Given the description of an element on the screen output the (x, y) to click on. 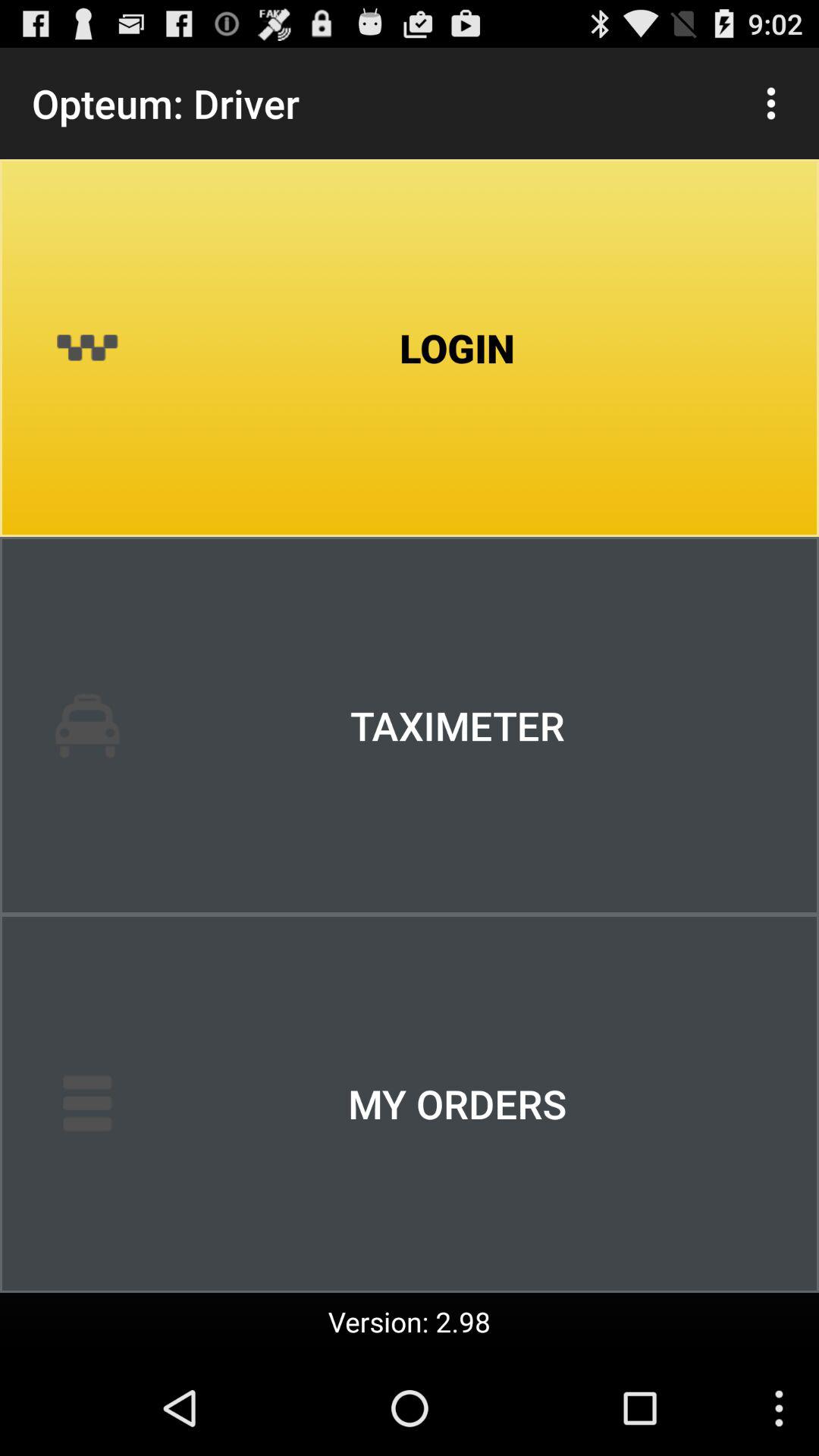
click my orders icon (409, 1103)
